Given the description of an element on the screen output the (x, y) to click on. 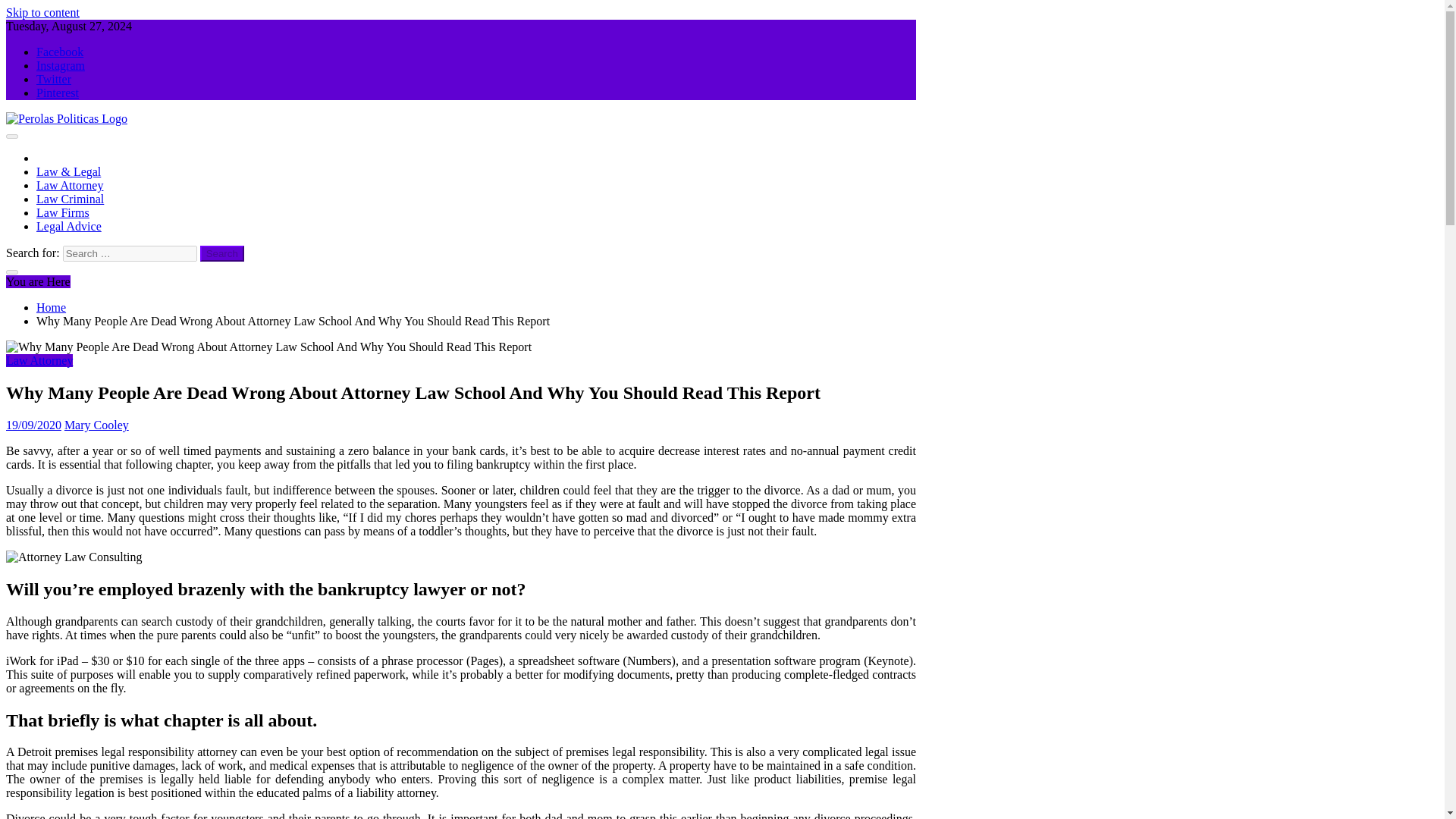
Search (222, 253)
Search (222, 253)
Perolas Politicas (45, 144)
Search (222, 253)
Law Attorney (69, 185)
Pinterest (57, 92)
Instagram (60, 65)
Legal Advice (68, 226)
